Given the description of an element on the screen output the (x, y) to click on. 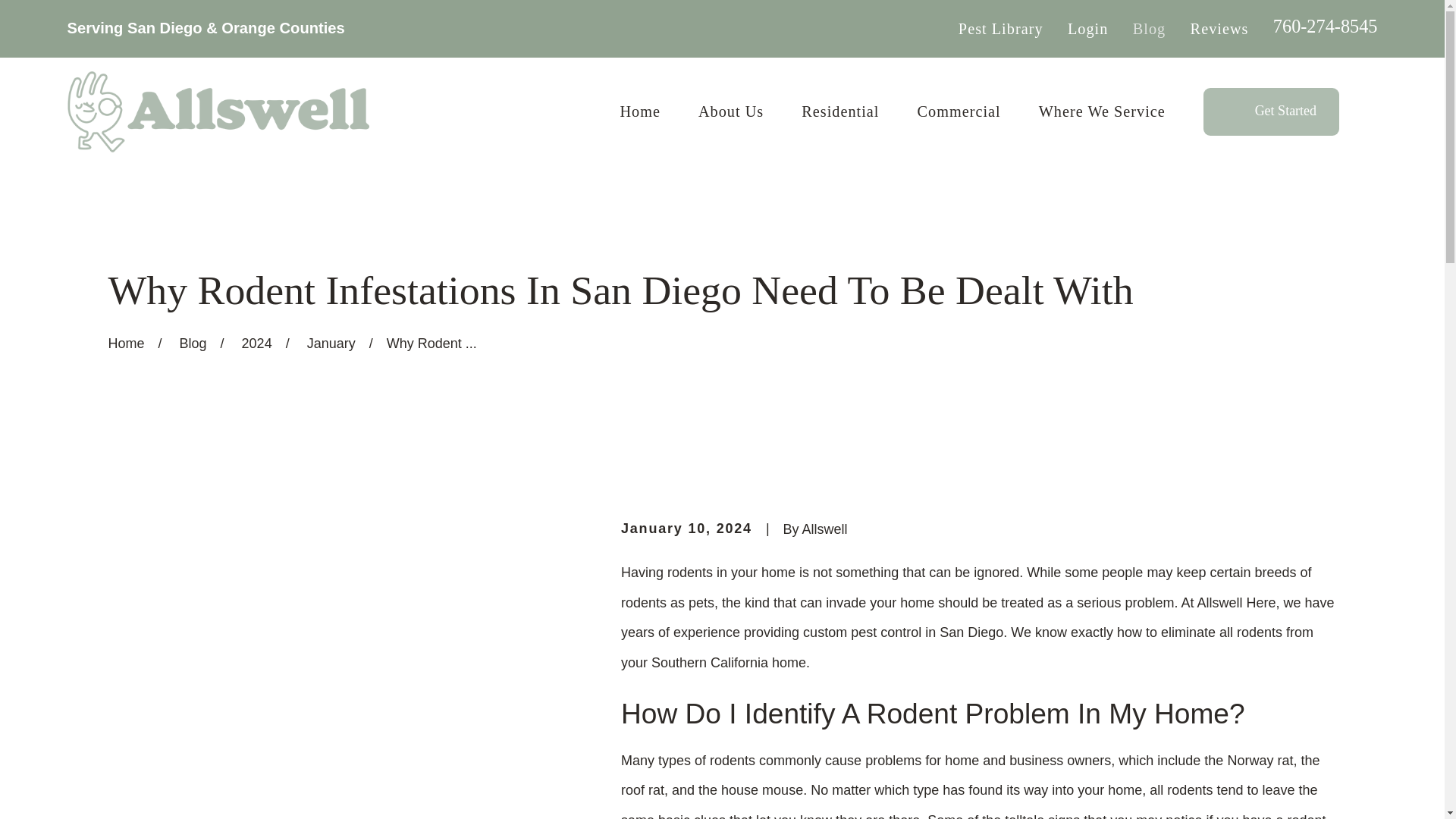
Where We Service (1102, 111)
Go Home (125, 343)
Reviews (1220, 28)
Home (217, 111)
Commercial (959, 111)
Residential (840, 111)
Blog (1149, 28)
Login (1087, 28)
Pest Library (1000, 28)
760-274-8545 (1324, 25)
About Us (730, 111)
